Given the description of an element on the screen output the (x, y) to click on. 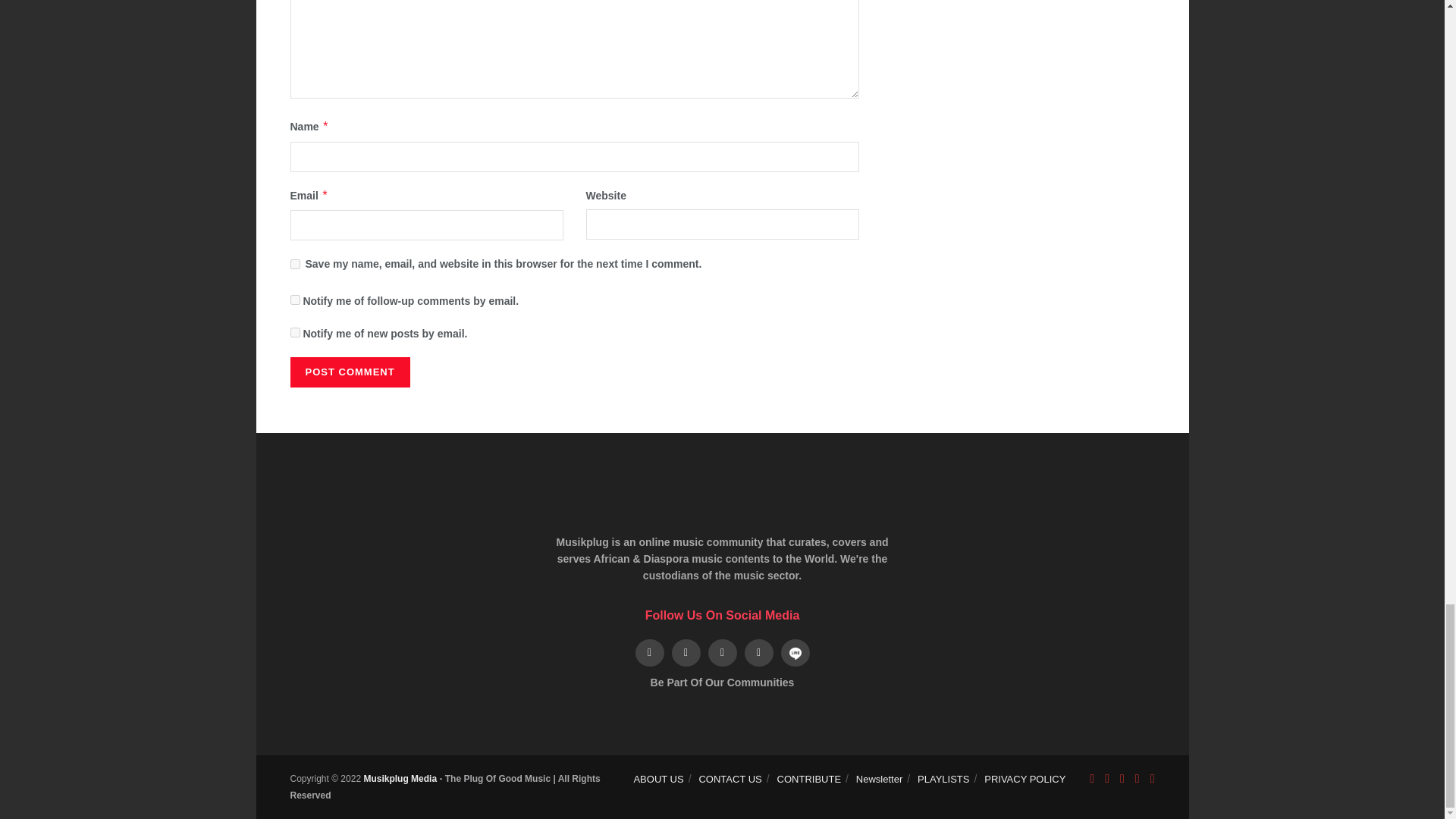
subscribe (294, 299)
Post Comment (349, 372)
subscribe (294, 332)
yes (294, 264)
